Given the description of an element on the screen output the (x, y) to click on. 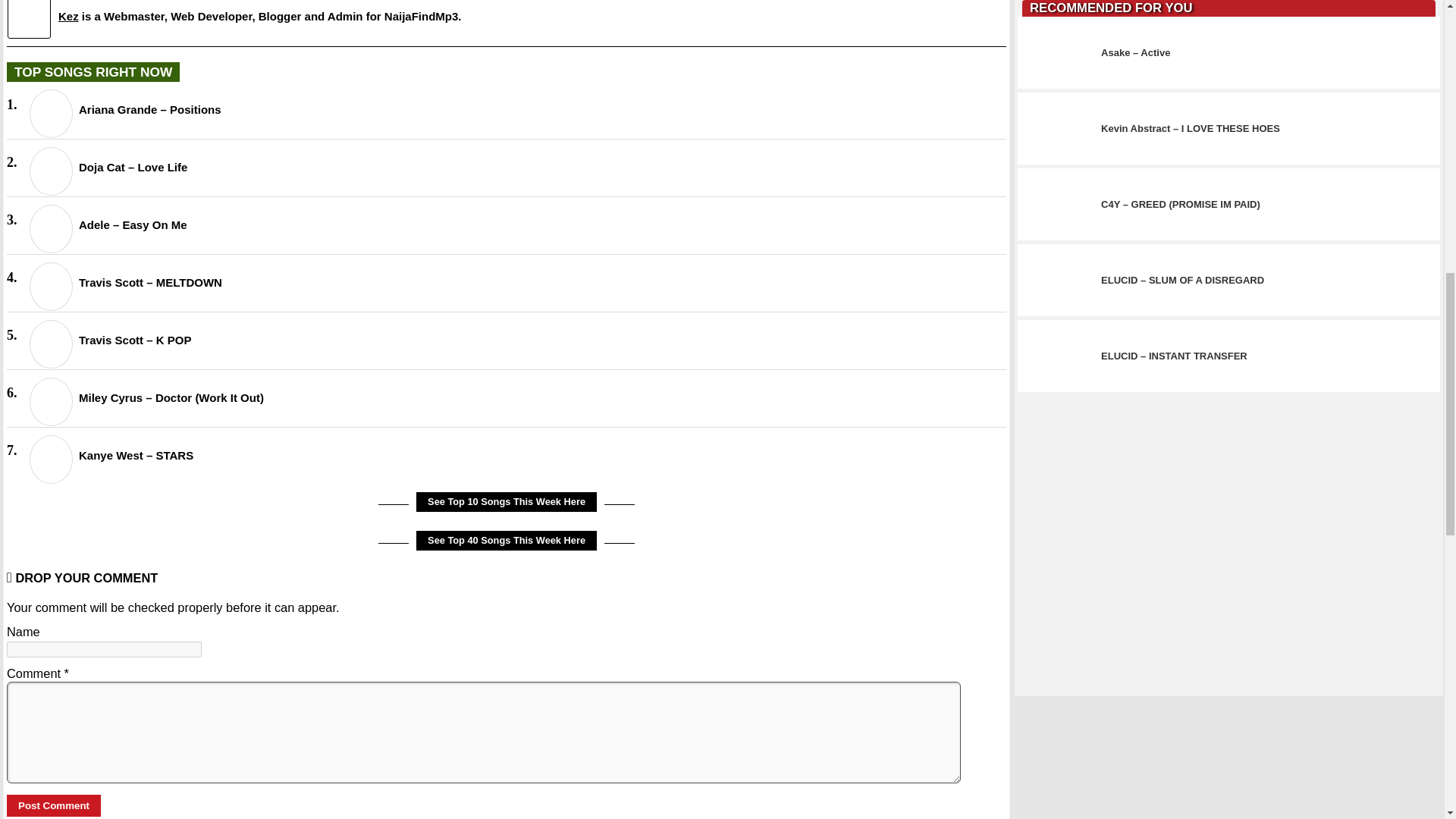
Post Comment (53, 805)
See Top 40 Songs This Week Here (506, 540)
See Top 10 Songs This Week Here (506, 501)
Post Comment (53, 805)
